Given the description of an element on the screen output the (x, y) to click on. 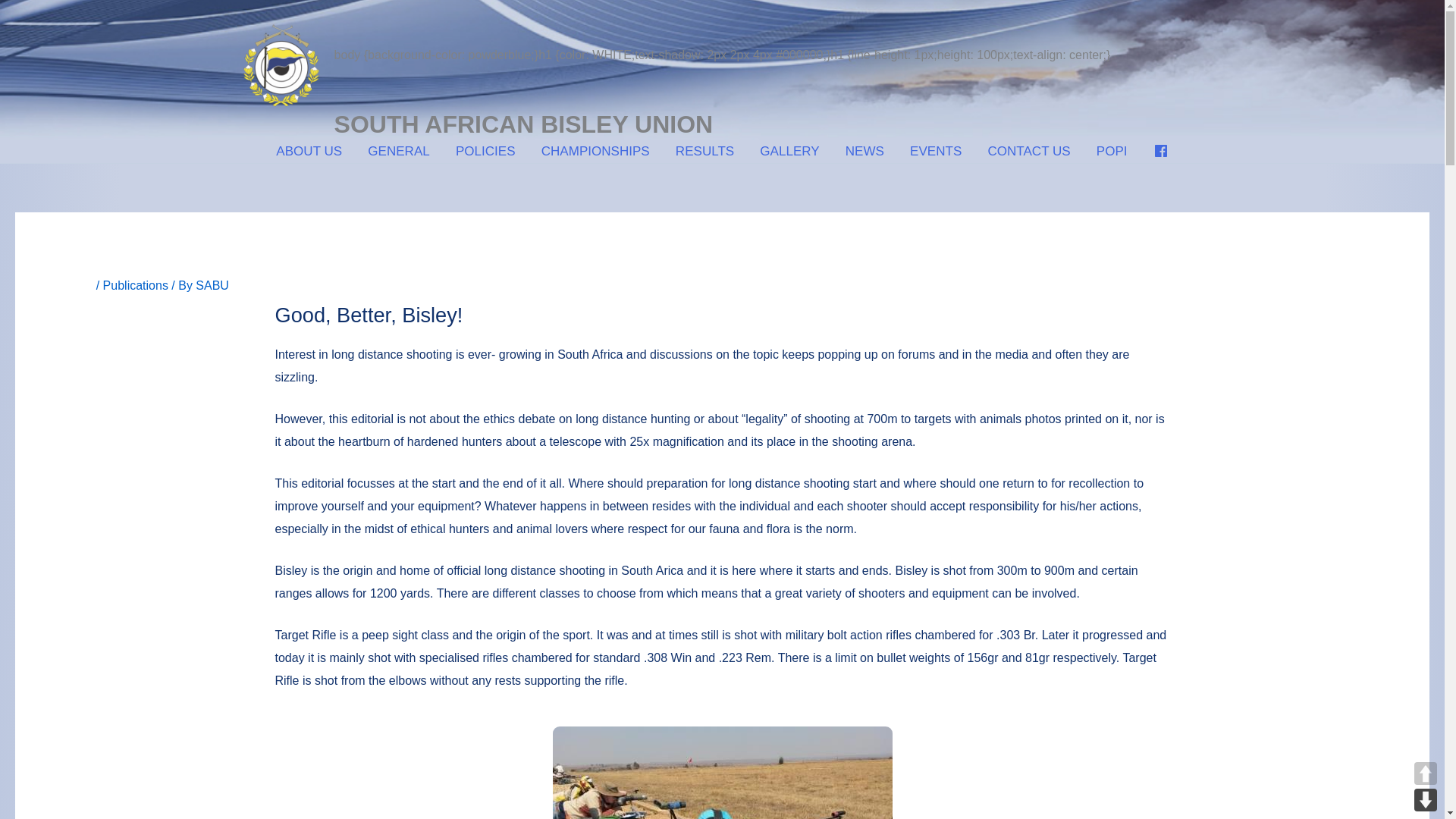
NEWS (864, 150)
GALLERY (788, 150)
GENERAL (398, 150)
POLICIES (485, 150)
View all posts by SABU (211, 285)
ABOUT US (309, 150)
CHAMPIONSHIPS (595, 150)
RESULTS (704, 150)
